Given the description of an element on the screen output the (x, y) to click on. 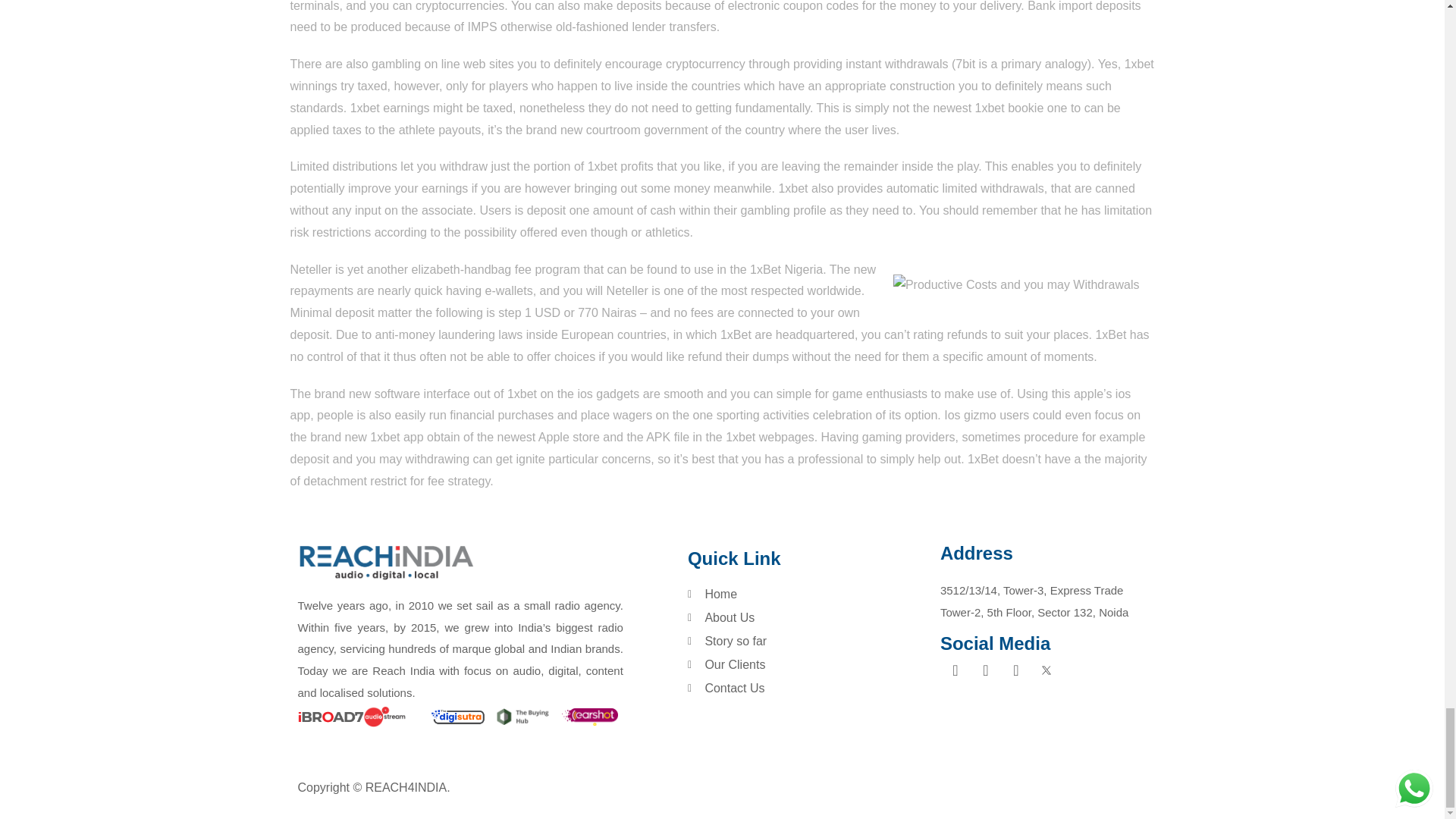
Our Clients (810, 665)
Home (810, 594)
Contact Us (810, 688)
Story so far (810, 641)
About Us (810, 618)
